Given the description of an element on the screen output the (x, y) to click on. 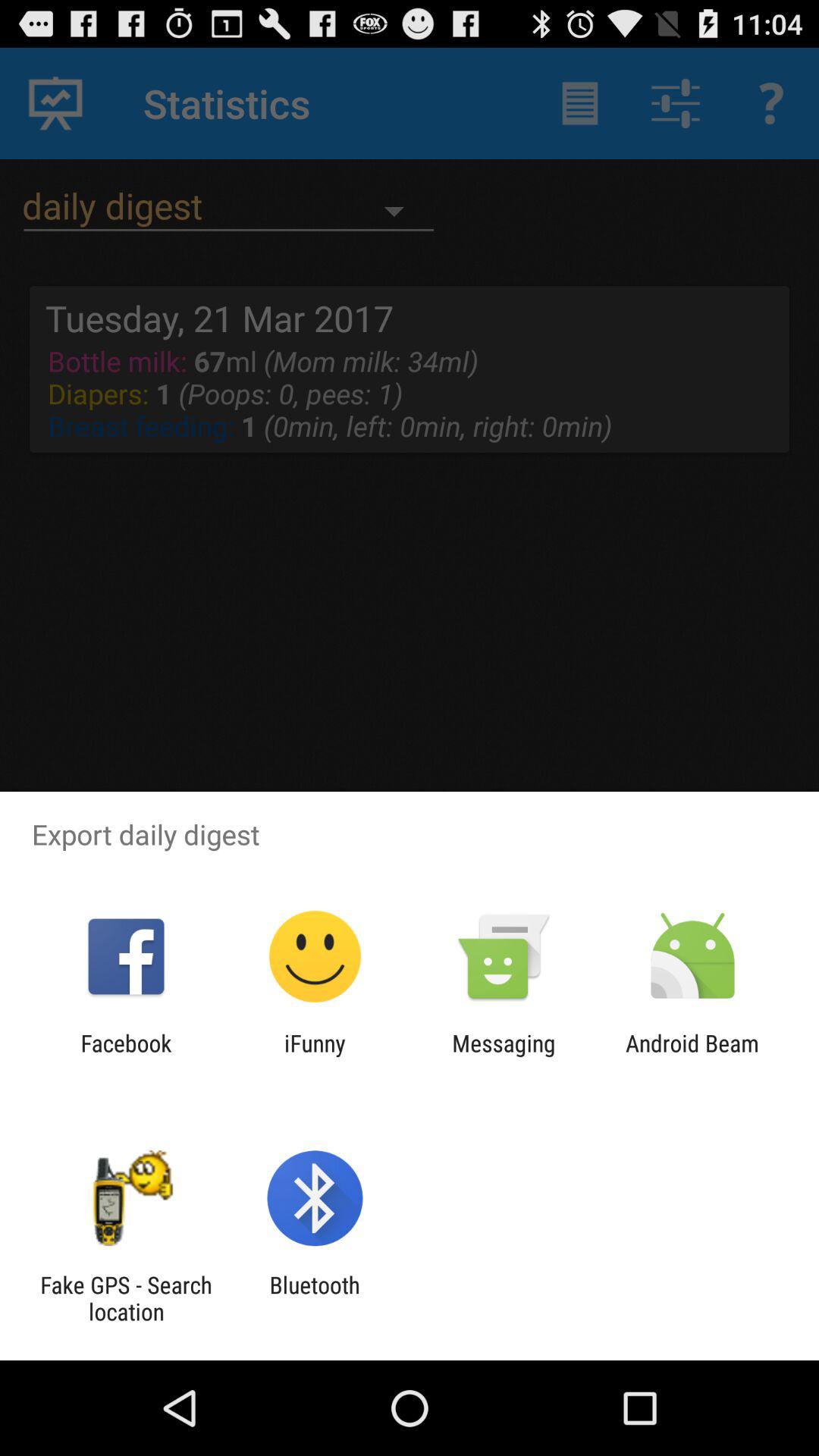
tap icon to the left of ifunny (125, 1056)
